Given the description of an element on the screen output the (x, y) to click on. 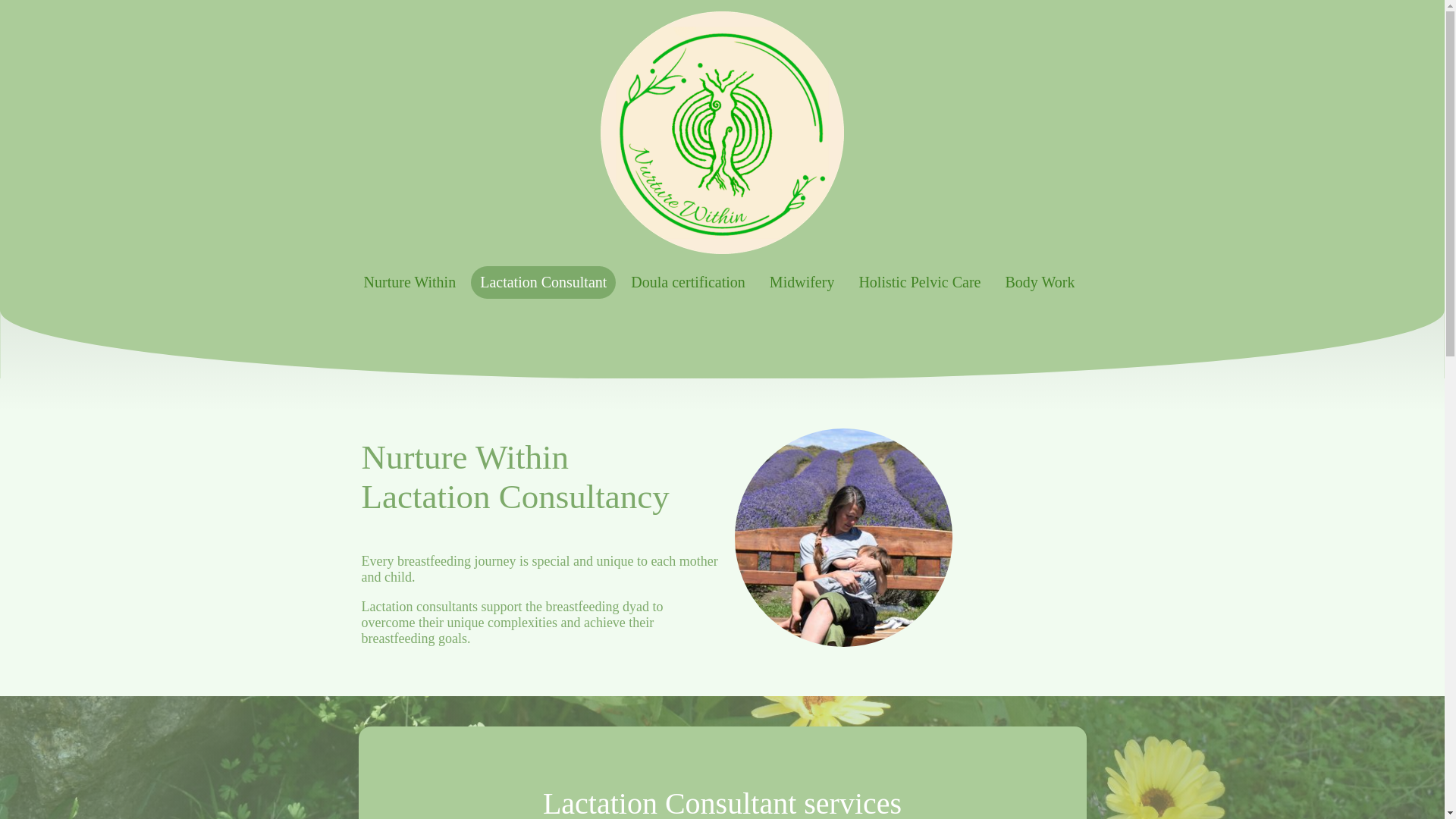
Lactation Consultant (542, 282)
Body Work (1039, 282)
Doula certification (687, 282)
Holistic Pelvic Care (919, 282)
Midwifery (802, 282)
Nurture Within (410, 282)
